Given the description of an element on the screen output the (x, y) to click on. 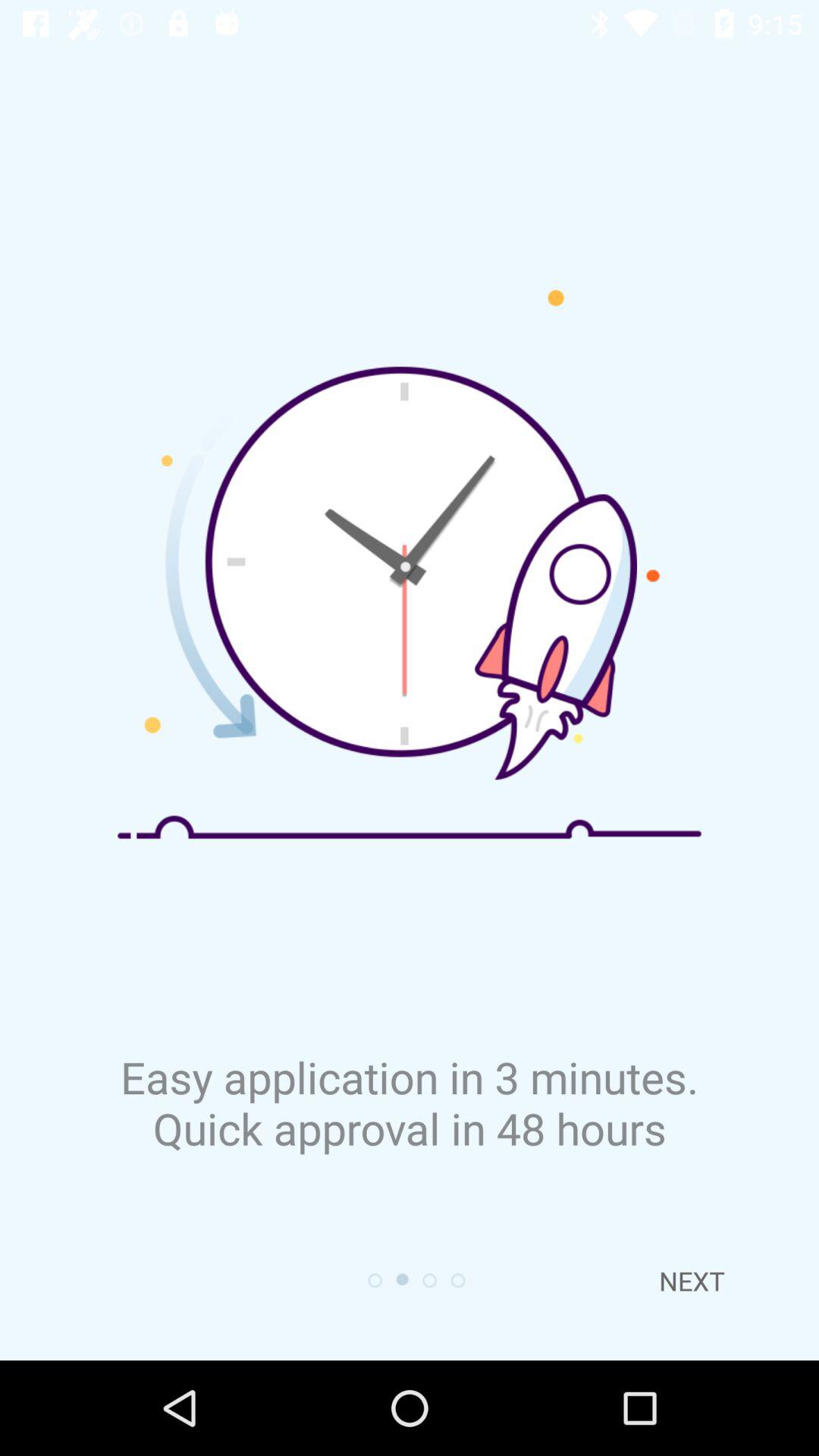
jump until the next item (691, 1280)
